Given the description of an element on the screen output the (x, y) to click on. 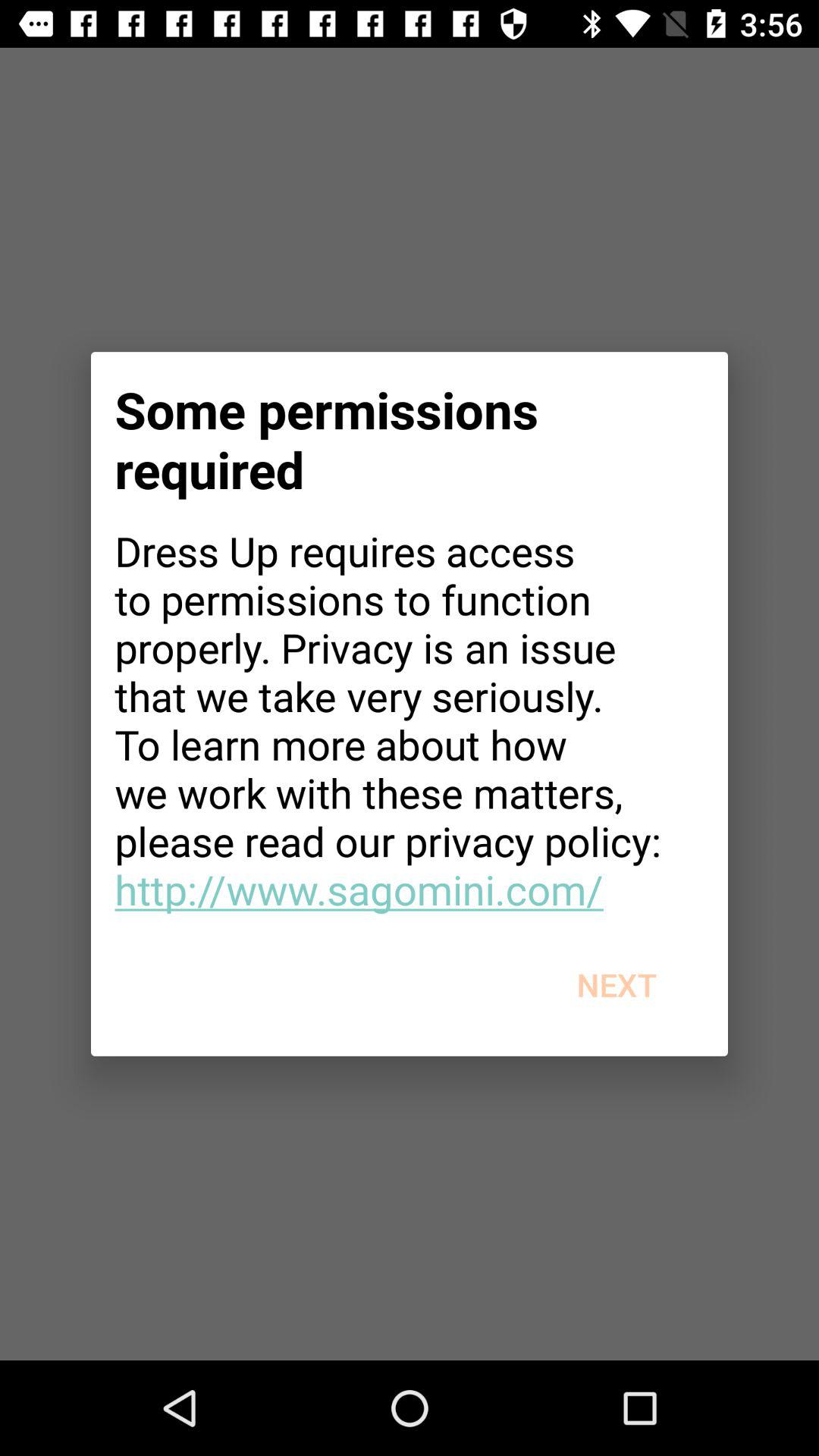
select app at the center (409, 719)
